Given the description of an element on the screen output the (x, y) to click on. 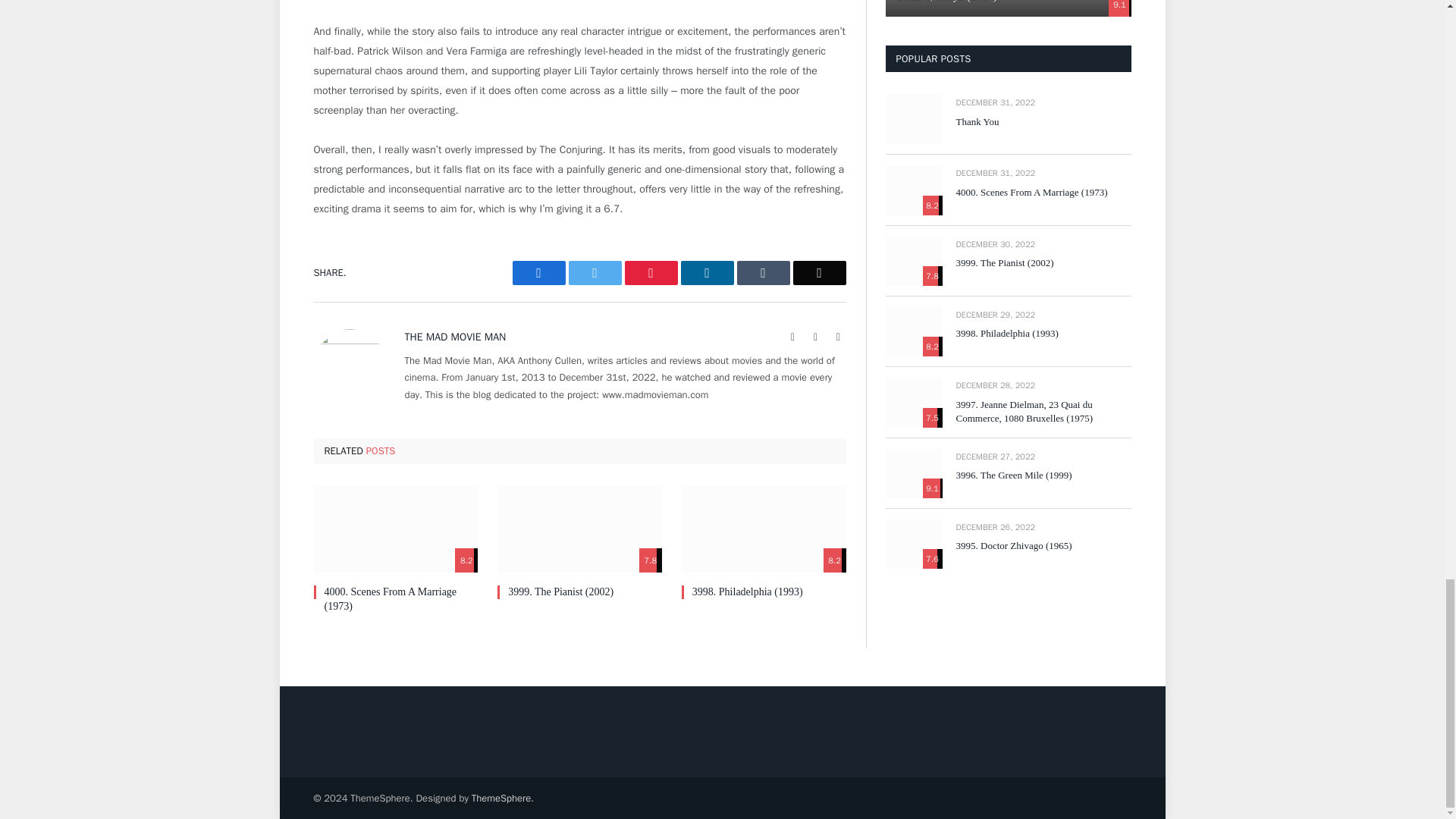
Share on LinkedIn (707, 273)
Share on Twitter (595, 273)
Share on Pinterest (651, 273)
Share via Email (819, 273)
Posts by The Mad Movie Man (455, 336)
Website (793, 337)
Facebook (816, 337)
Share on Tumblr (763, 273)
Share on Facebook (539, 273)
